Given the description of an element on the screen output the (x, y) to click on. 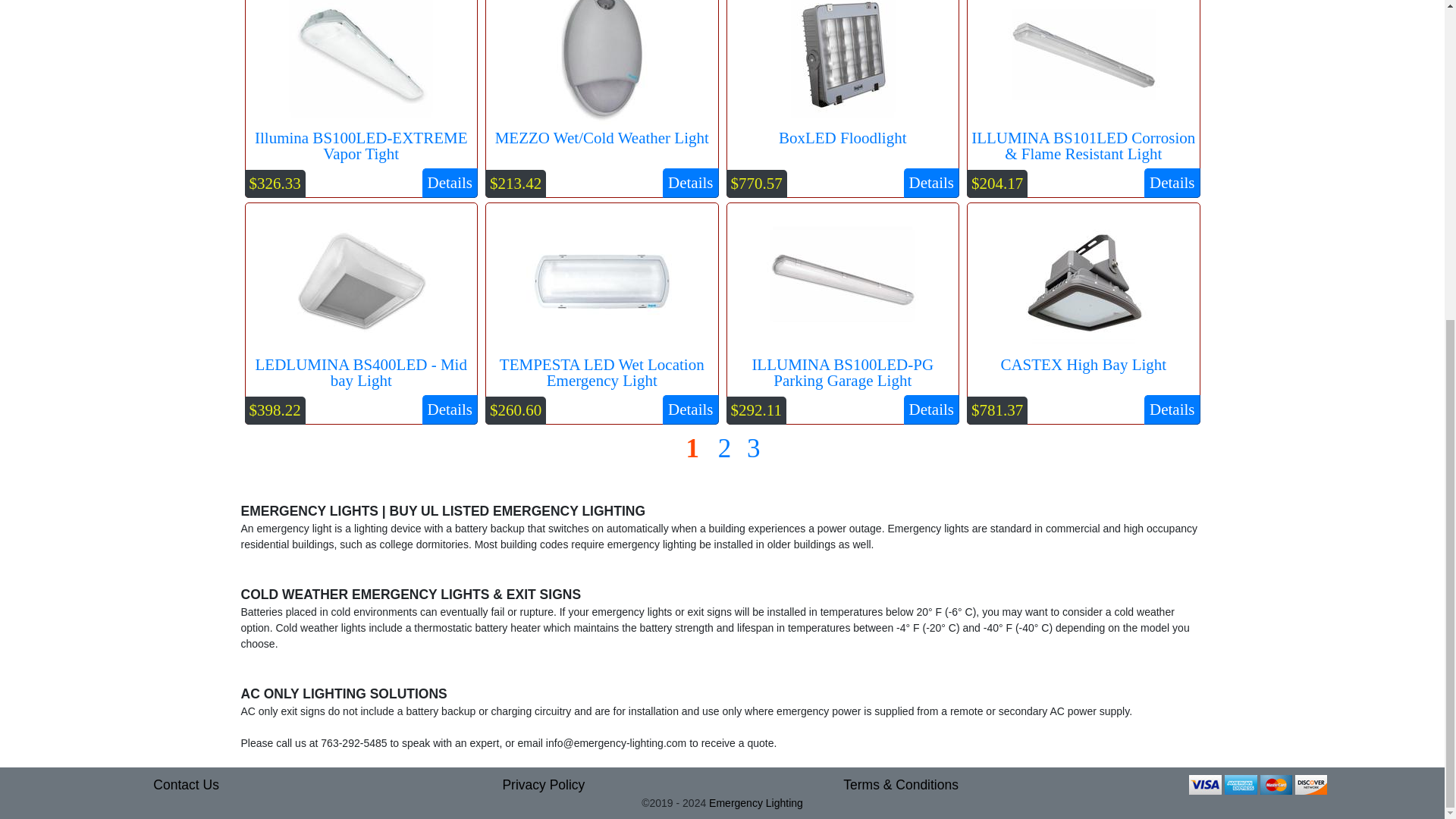
Details (689, 409)
Details (689, 183)
Details (449, 409)
Details (931, 409)
Details (931, 183)
Details (449, 183)
Details (1171, 183)
Details (1171, 409)
